Given the description of an element on the screen output the (x, y) to click on. 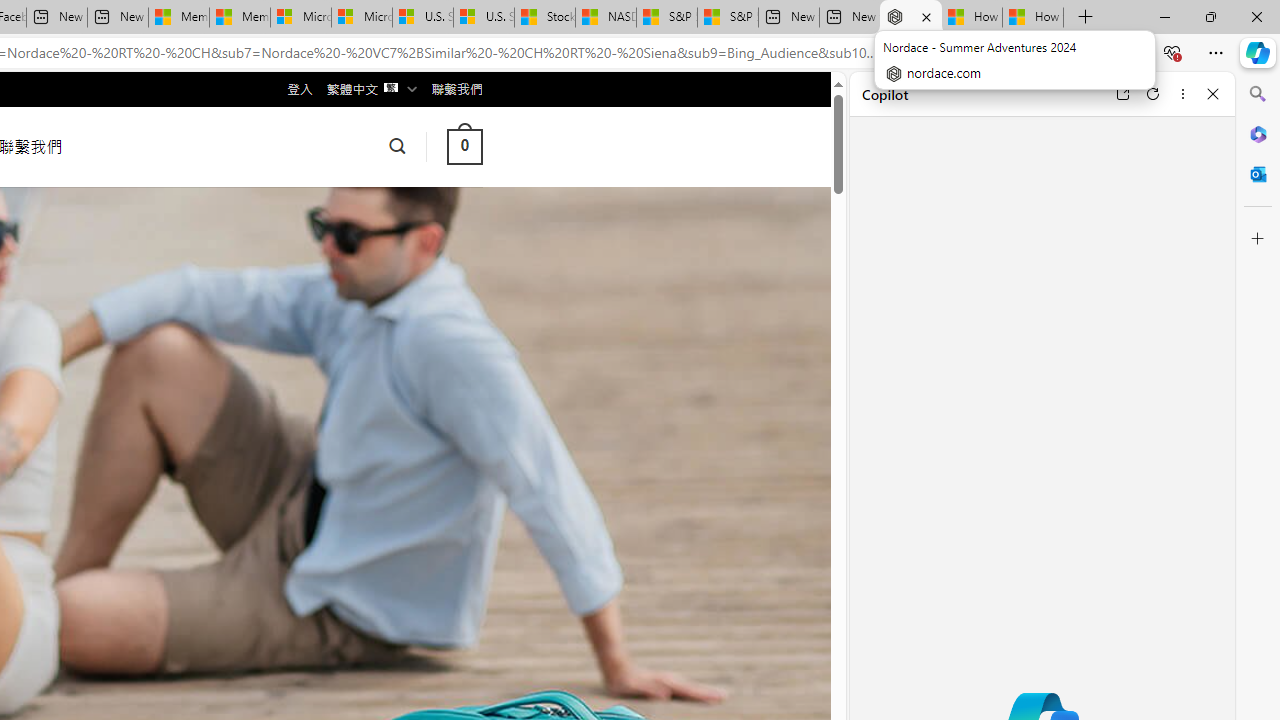
How to Use a Monitor With Your Closed Laptop (1033, 17)
